Given the description of an element on the screen output the (x, y) to click on. 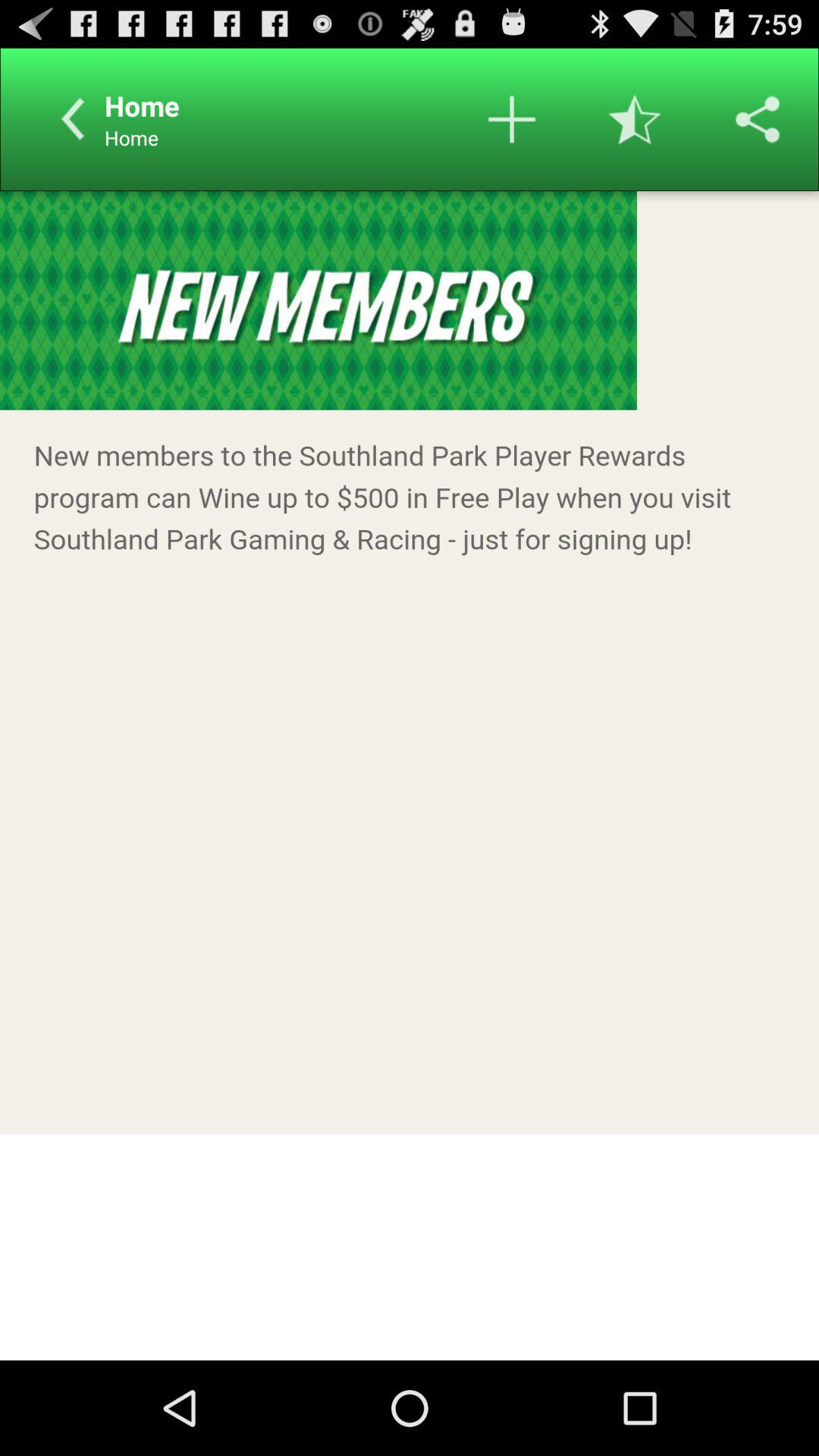
screen page (409, 775)
